Given the description of an element on the screen output the (x, y) to click on. 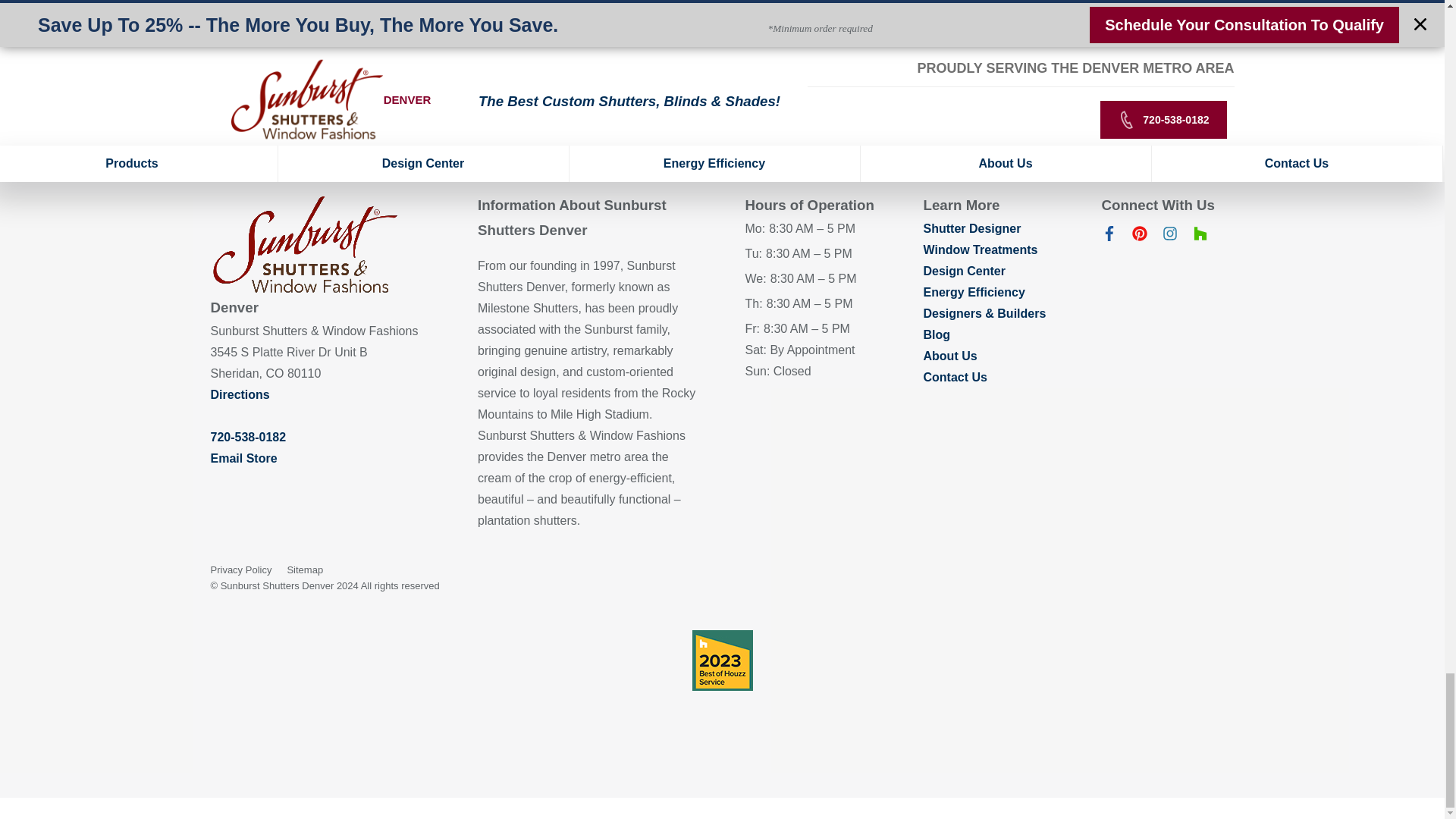
Best Of Houzz 2024 (721, 660)
Like us on Facebook (1108, 236)
Save us on Houzz (1199, 236)
Follow us on Instagram (1168, 236)
Follow us on Pinterest (1139, 236)
